Given the description of an element on the screen output the (x, y) to click on. 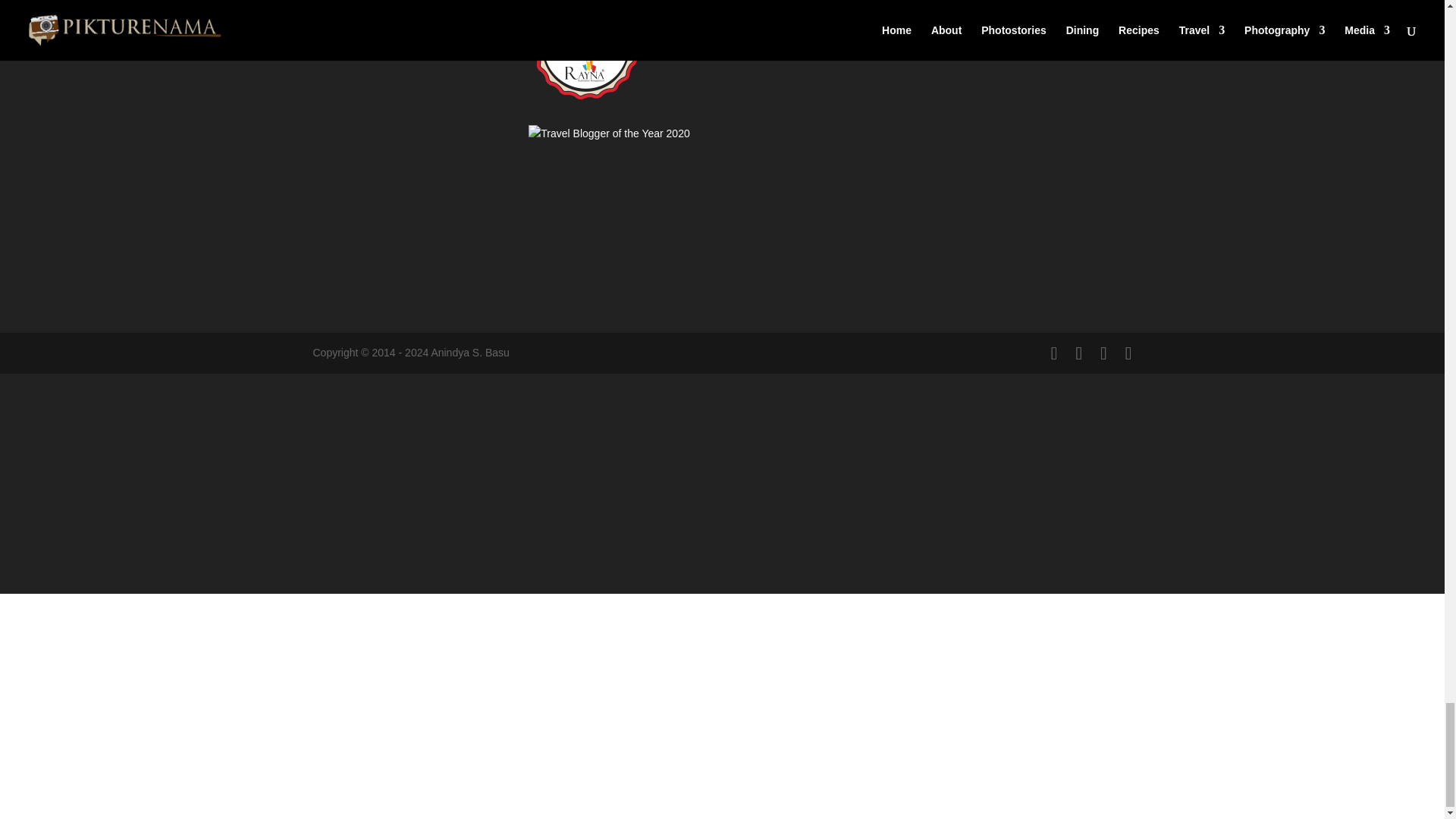
Rayna Tours (585, 104)
